Given the description of an element on the screen output the (x, y) to click on. 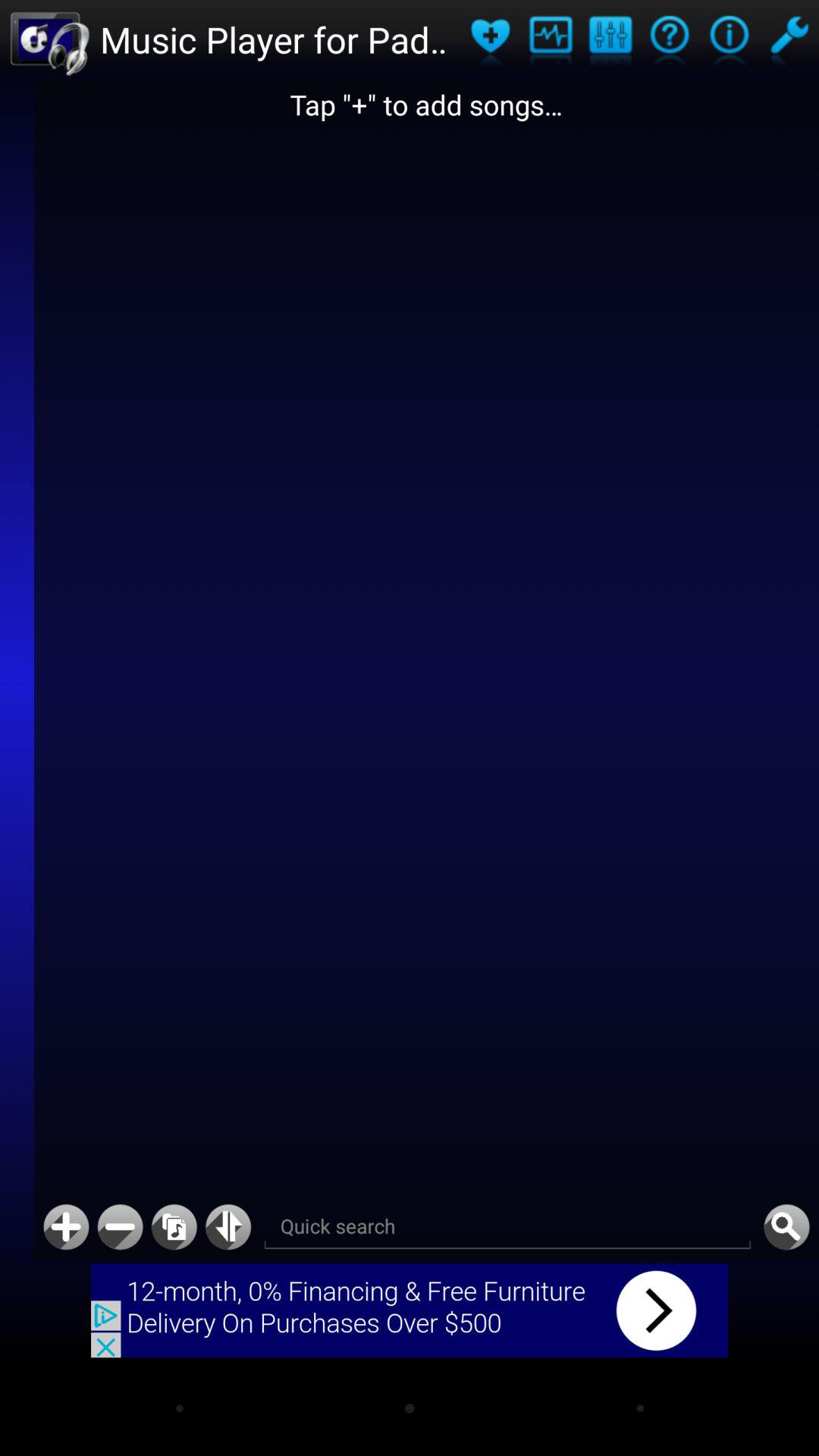
mix up audio (609, 39)
